Given the description of an element on the screen output the (x, y) to click on. 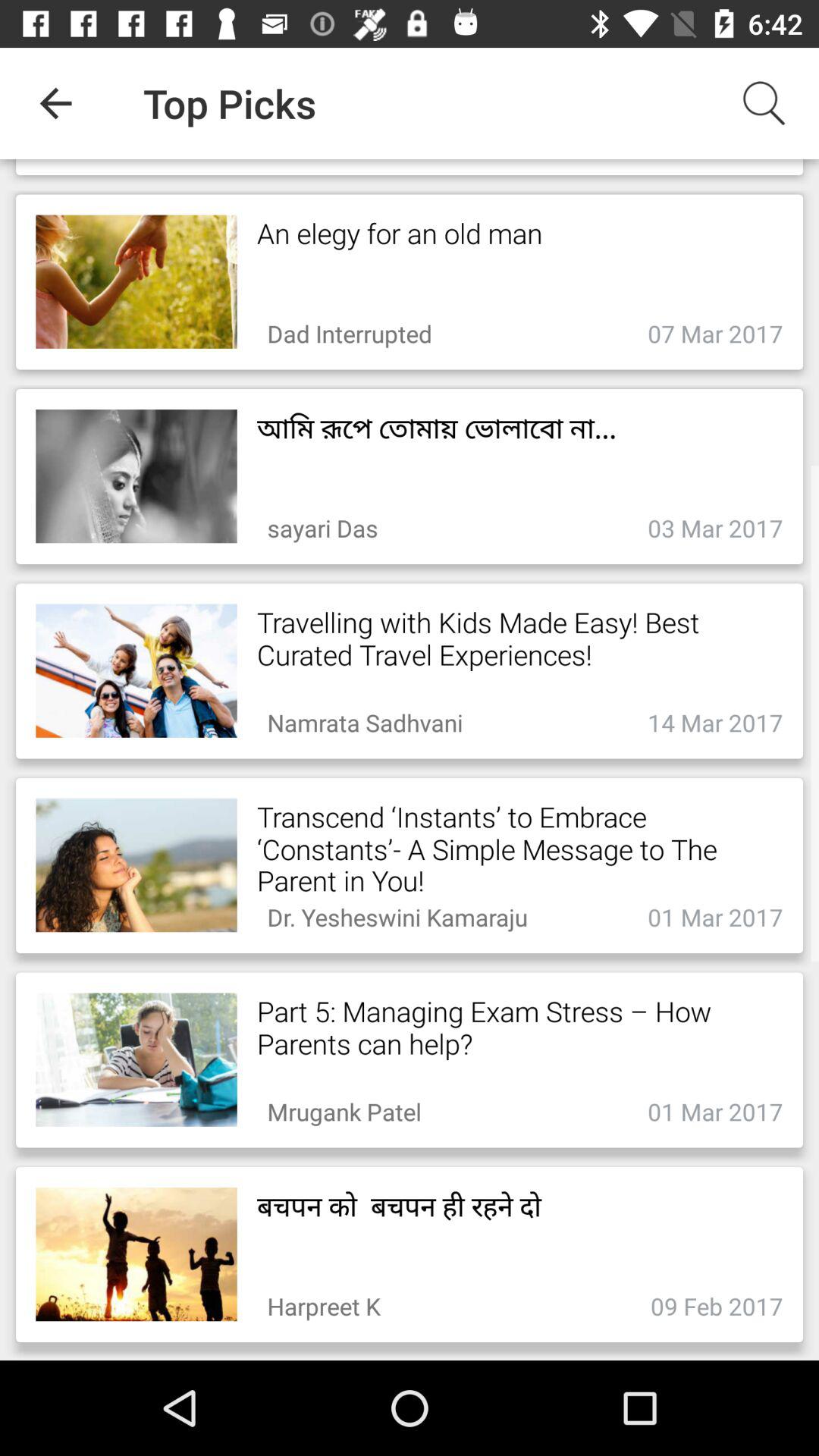
jump to the mrugank patel item (344, 1107)
